Given the description of an element on the screen output the (x, y) to click on. 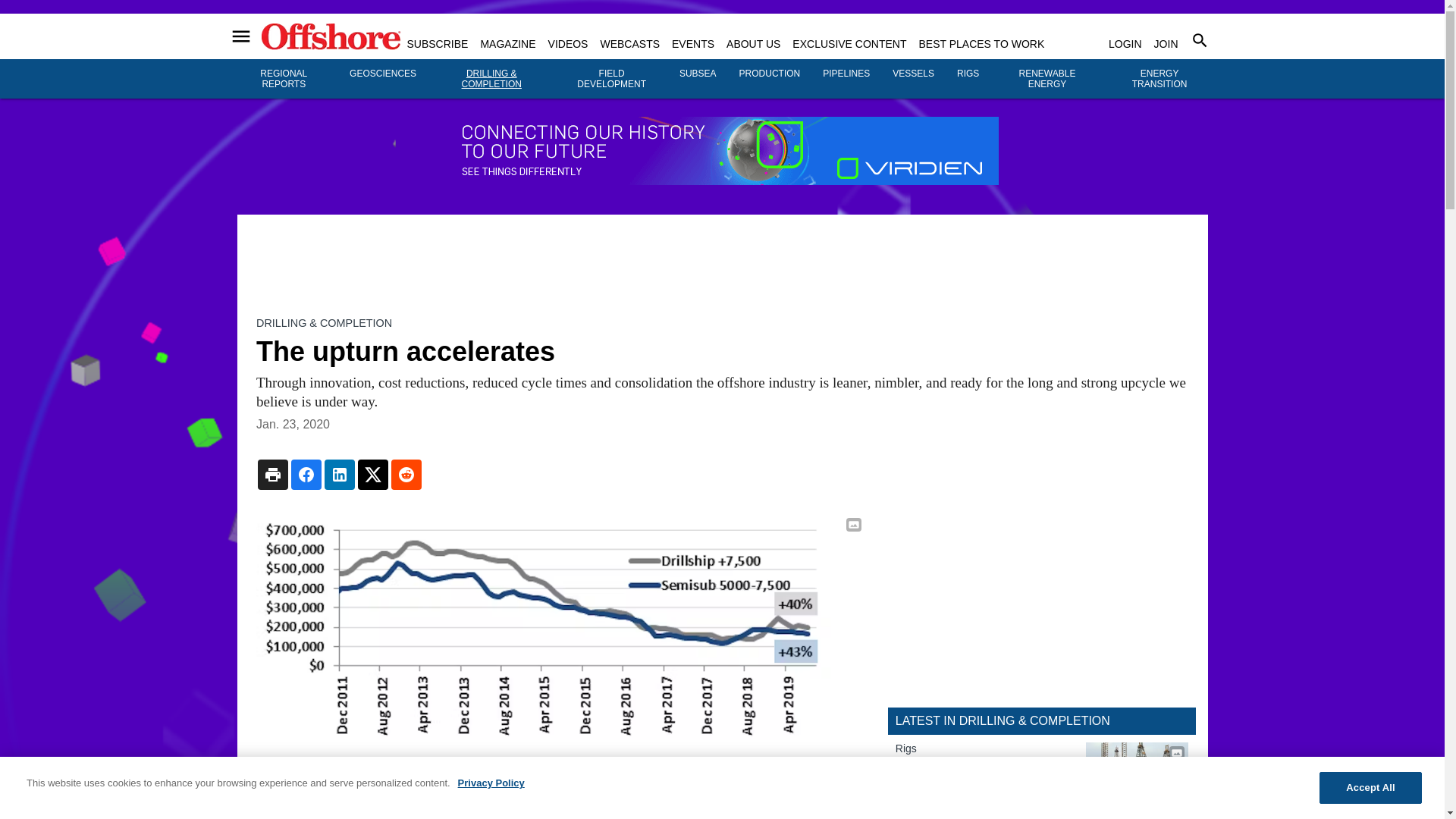
3rd party ad content (1042, 601)
BEST PLACES TO WORK (981, 43)
GEOSCIENCES (382, 72)
WEBCASTS (629, 43)
JOIN (1165, 43)
RENEWABLE ENERGY (1047, 78)
VIDEOS (568, 43)
PRODUCTION (769, 72)
ABOUT US (753, 43)
RIGS (967, 72)
SUBSCRIBE (436, 43)
PIPELINES (845, 72)
ENERGY TRANSITION (1160, 78)
